Given the description of an element on the screen output the (x, y) to click on. 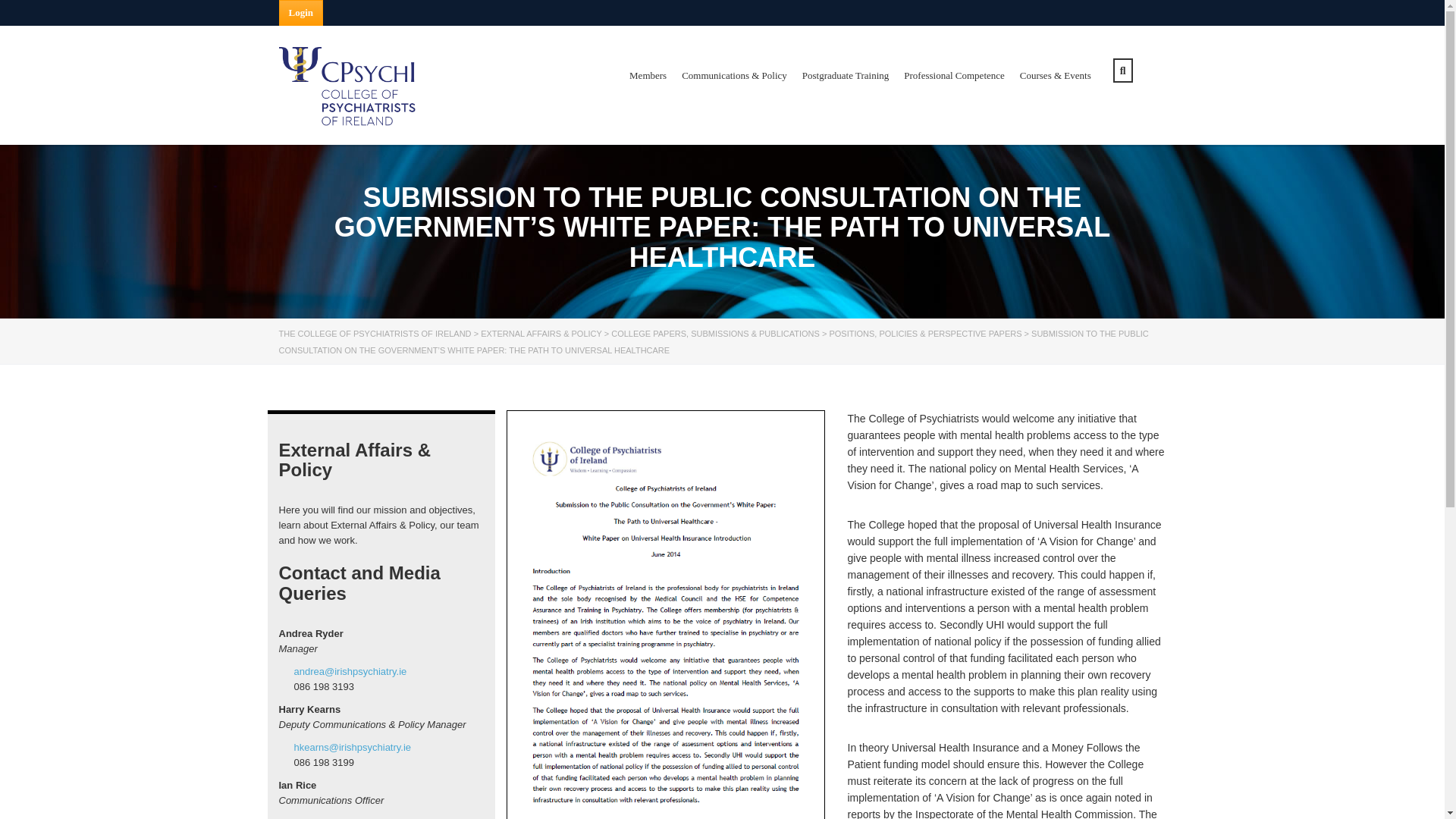
Go to The College of Psychiatrists of Ireland. (375, 333)
Login (301, 12)
Login (301, 12)
